Given the description of an element on the screen output the (x, y) to click on. 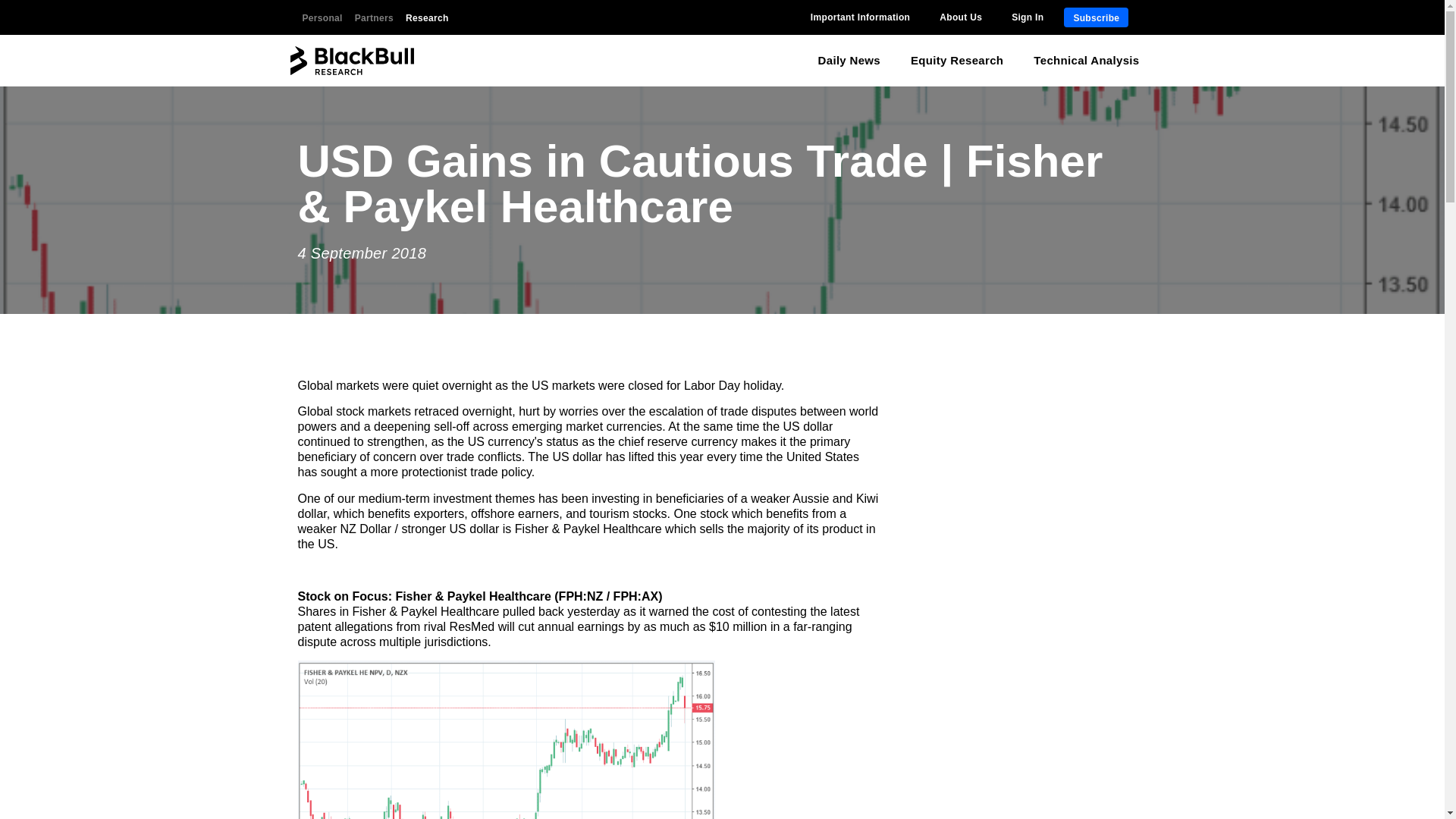
Personal (321, 17)
Technical Analysis (1085, 60)
Subscribe (1096, 17)
Equity Research (956, 60)
Research (426, 17)
Partners (373, 17)
Important Information (860, 16)
About Us (960, 16)
Daily News (849, 60)
Sign In (1027, 16)
